Given the description of an element on the screen output the (x, y) to click on. 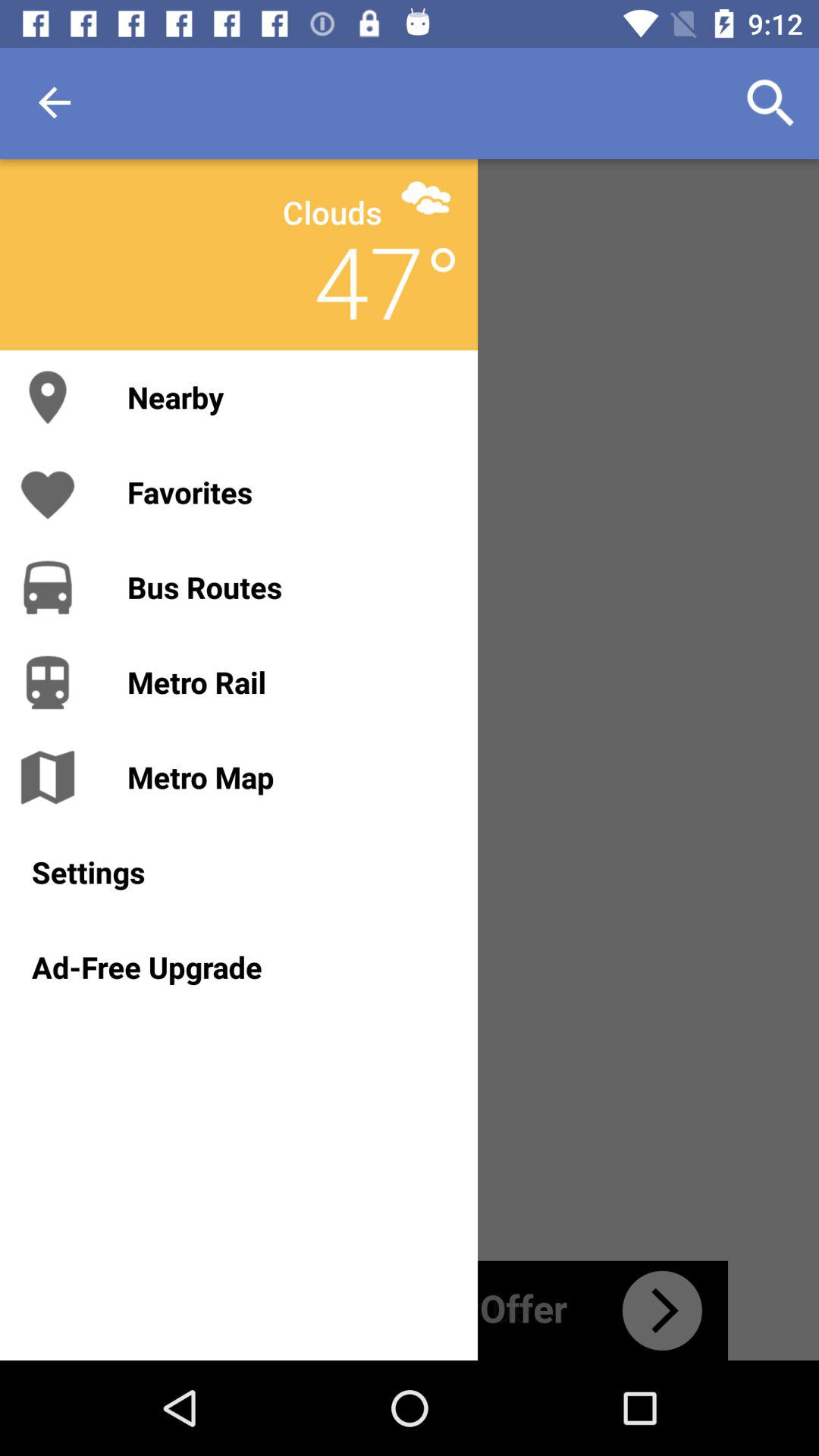
scroll until the metro map (286, 777)
